Given the description of an element on the screen output the (x, y) to click on. 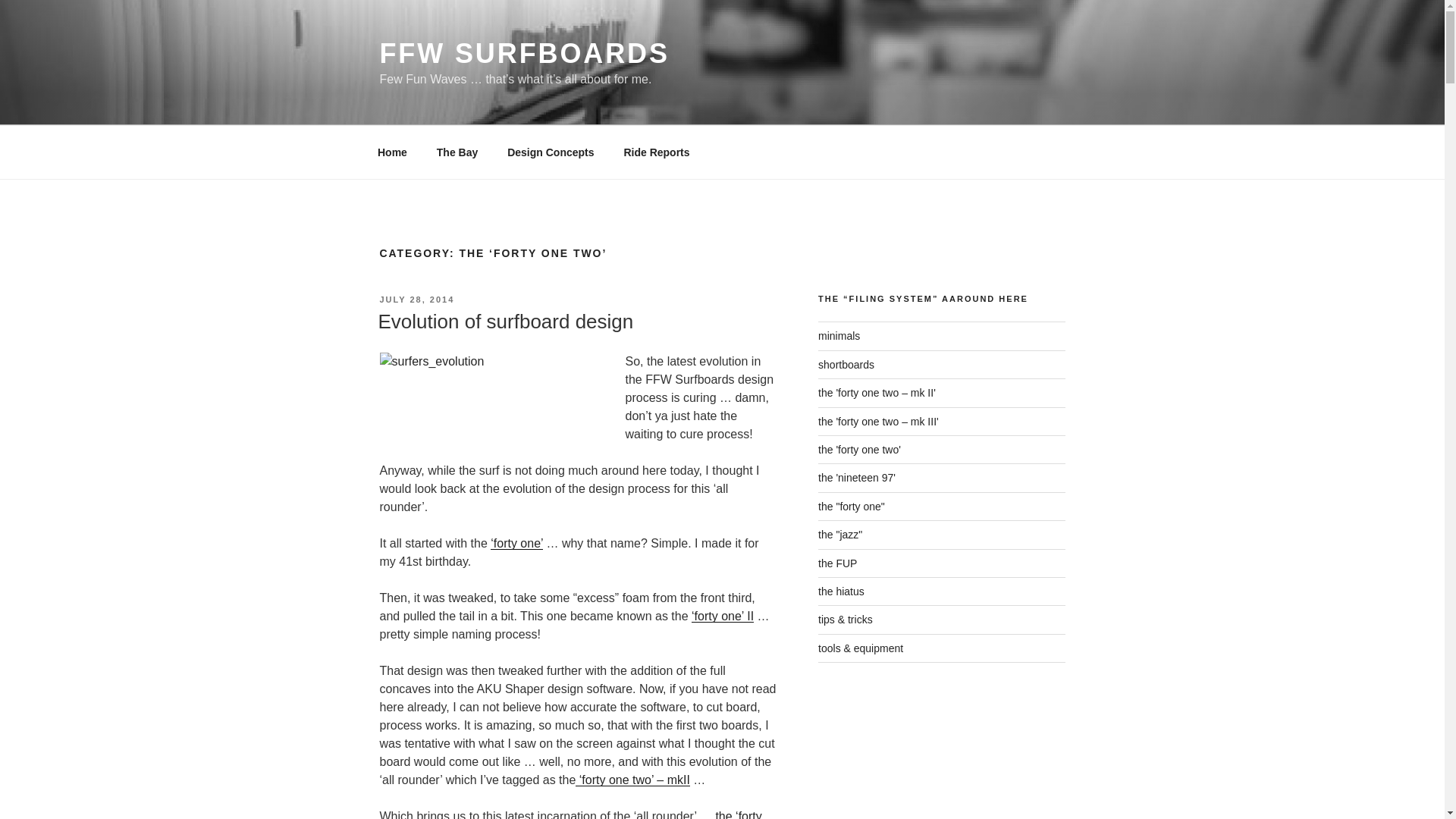
Design Concepts (551, 151)
The Bay (456, 151)
JULY 28, 2014 (416, 298)
FFW SURFBOARDS (523, 52)
Evolution of surfboard design (505, 321)
Home (392, 151)
Ride Reports (656, 151)
